Given the description of an element on the screen output the (x, y) to click on. 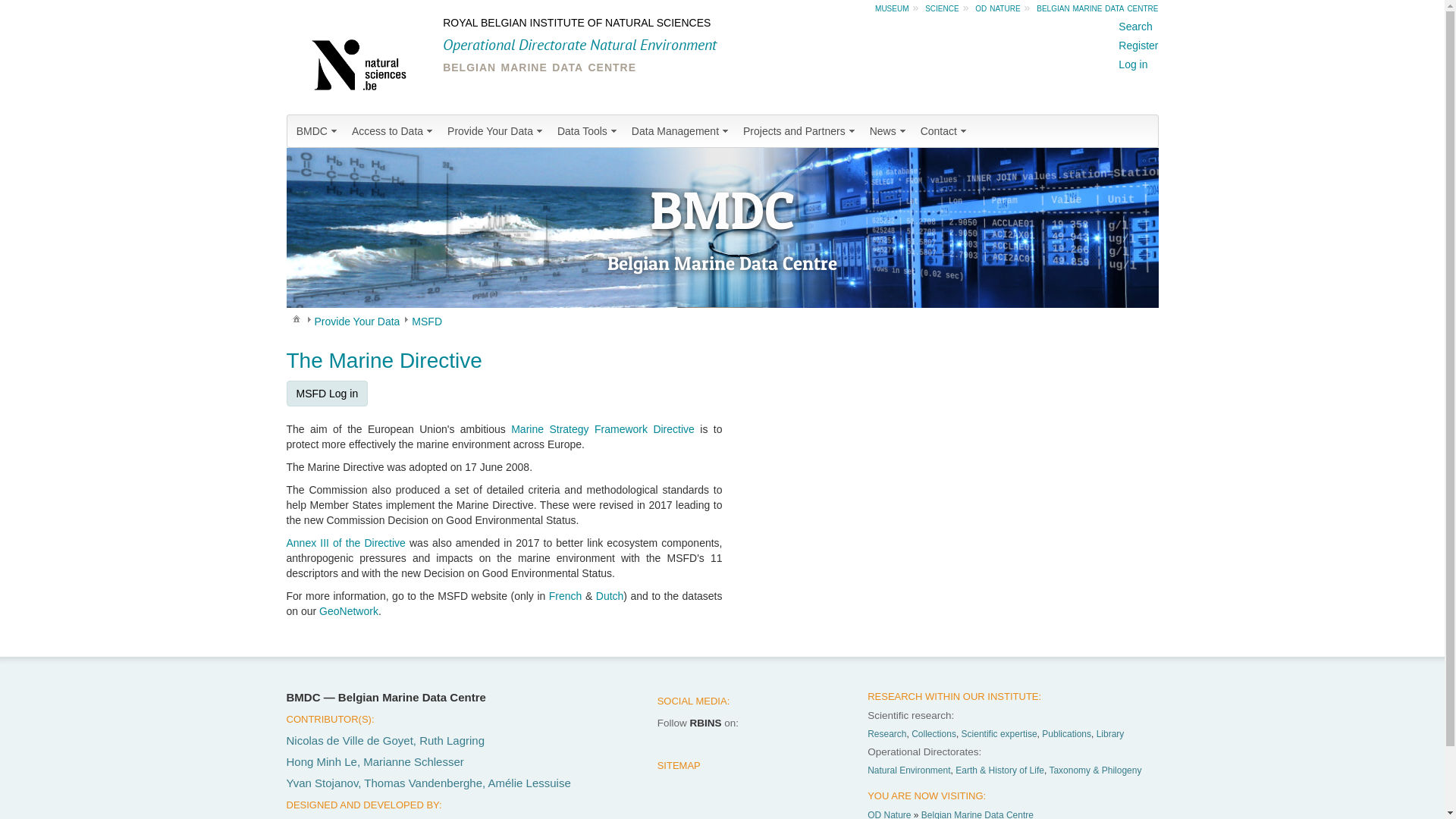
Publications Element type: text (1066, 733)
Provide Your Data Element type: text (496, 131)
Search Element type: text (1134, 26)
belgian marine data centre Element type: text (1096, 7)
Provide Your Data Element type: text (356, 321)
Log in Element type: text (1132, 64)
Library Element type: text (1110, 733)
Projects and Partners Element type: text (800, 131)
Annex III of the Directive Element type: text (345, 542)
Research Element type: text (886, 733)
Scientific expertise Element type: text (999, 733)
Earth & History of Life Element type: text (999, 770)
BMDC Element type: text (317, 131)
GeoNetwork Element type: text (348, 611)
SITEMAP Element type: text (678, 765)
French Element type: text (565, 595)
Marine Strategy Framework Directive Element type: text (602, 429)
Access to Data Element type: text (393, 131)
Categories Element type: text (295, 318)
Data Tools Element type: text (588, 131)
Collections Element type: text (933, 733)
MSFD Element type: text (426, 321)
science Element type: text (941, 7)
od nature Element type: text (997, 7)
Contact Element type: text (944, 131)
ROYAL BELGIAN INSTITUTE OF NATURAL SCIENCES Element type: text (576, 22)
News Element type: text (888, 131)
MSFD Log in Element type: text (327, 393)
museum Element type: text (891, 7)
Dutch Element type: text (610, 595)
Register Element type: text (1137, 45)
Natural Environment Element type: text (908, 770)
Taxonomy & Philogeny Element type: text (1094, 770)
Data Management Element type: text (681, 131)
